Given the description of an element on the screen output the (x, y) to click on. 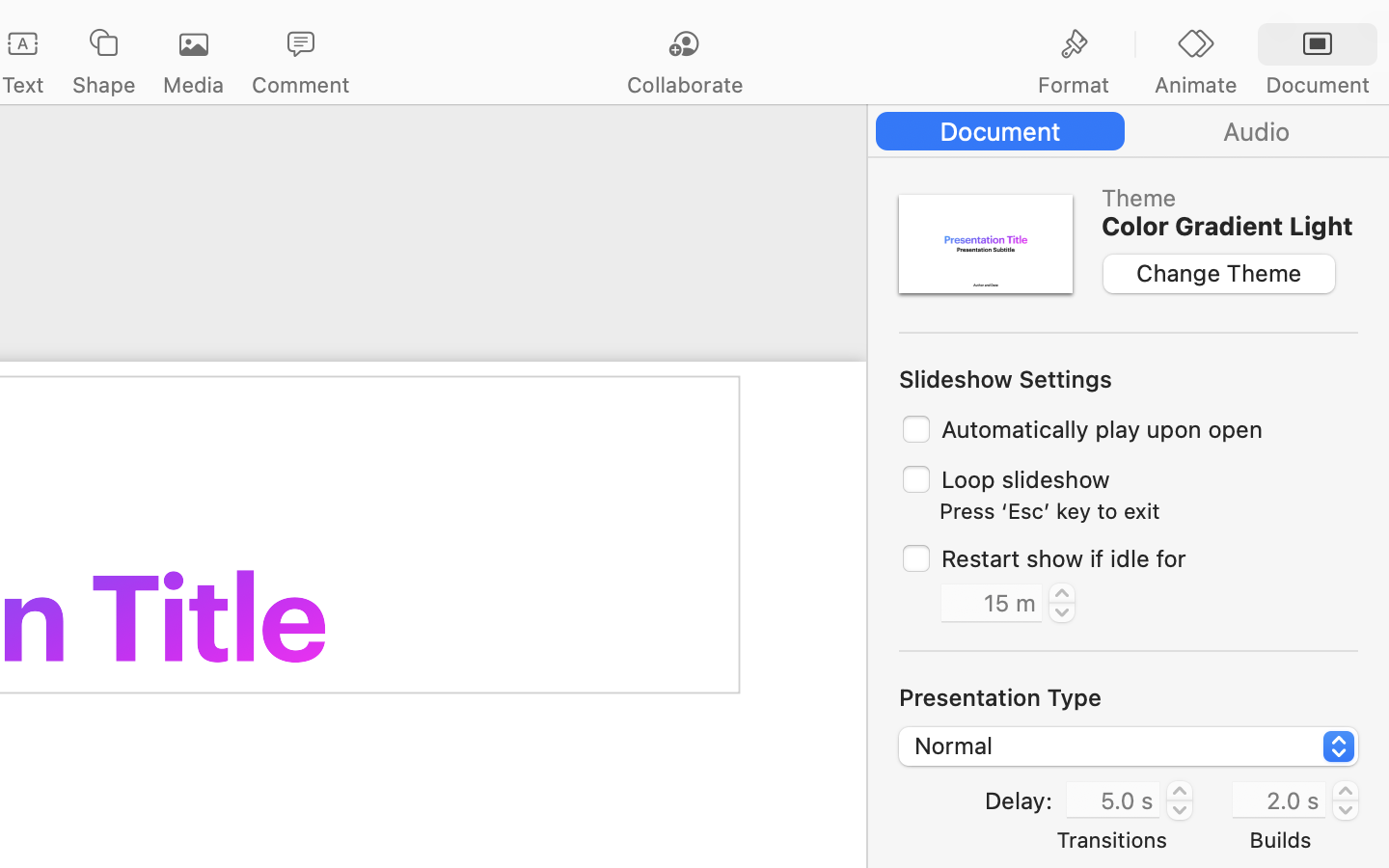
15.0 Element type: AXIncrementor (1061, 601)
5.0 s Element type: AXTextField (1112, 798)
<AXUIElement 0x2876f1d40> {pid=1697} Element type: AXRadioGroup (1128, 131)
Animate Element type: AXStaticText (1194, 84)
